Given the description of an element on the screen output the (x, y) to click on. 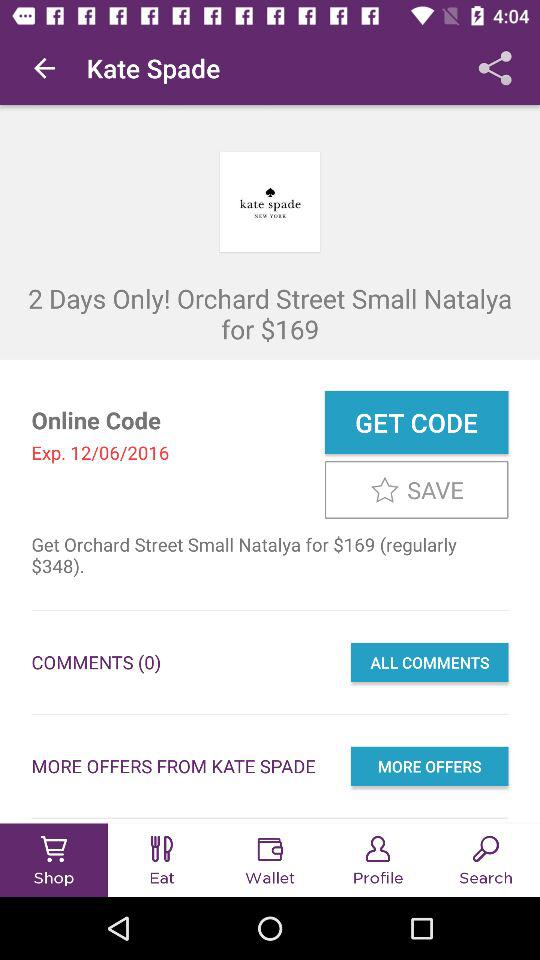
turn off item next to the kate spade item (44, 68)
